Given the description of an element on the screen output the (x, y) to click on. 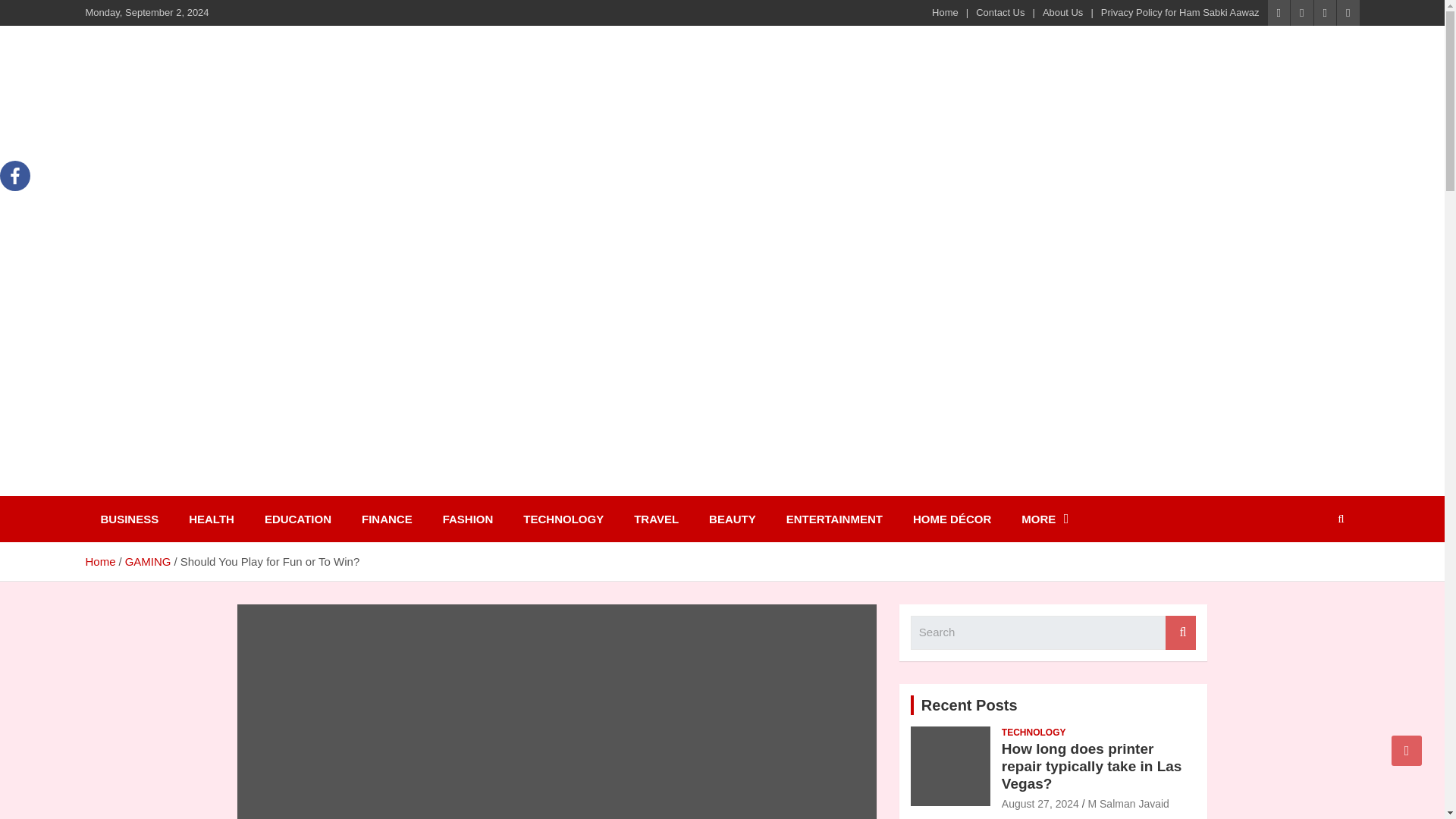
TECHNOLOGY (563, 519)
Ham Sab ki aawaz (215, 485)
GAMING (148, 561)
Contact Us (1000, 12)
Privacy Policy for Ham Sabki Aawaz (1179, 12)
HEALTH (210, 519)
Facebook (15, 175)
ENTERTAINMENT (834, 519)
BEAUTY (732, 519)
TRAVEL (656, 519)
